Given the description of an element on the screen output the (x, y) to click on. 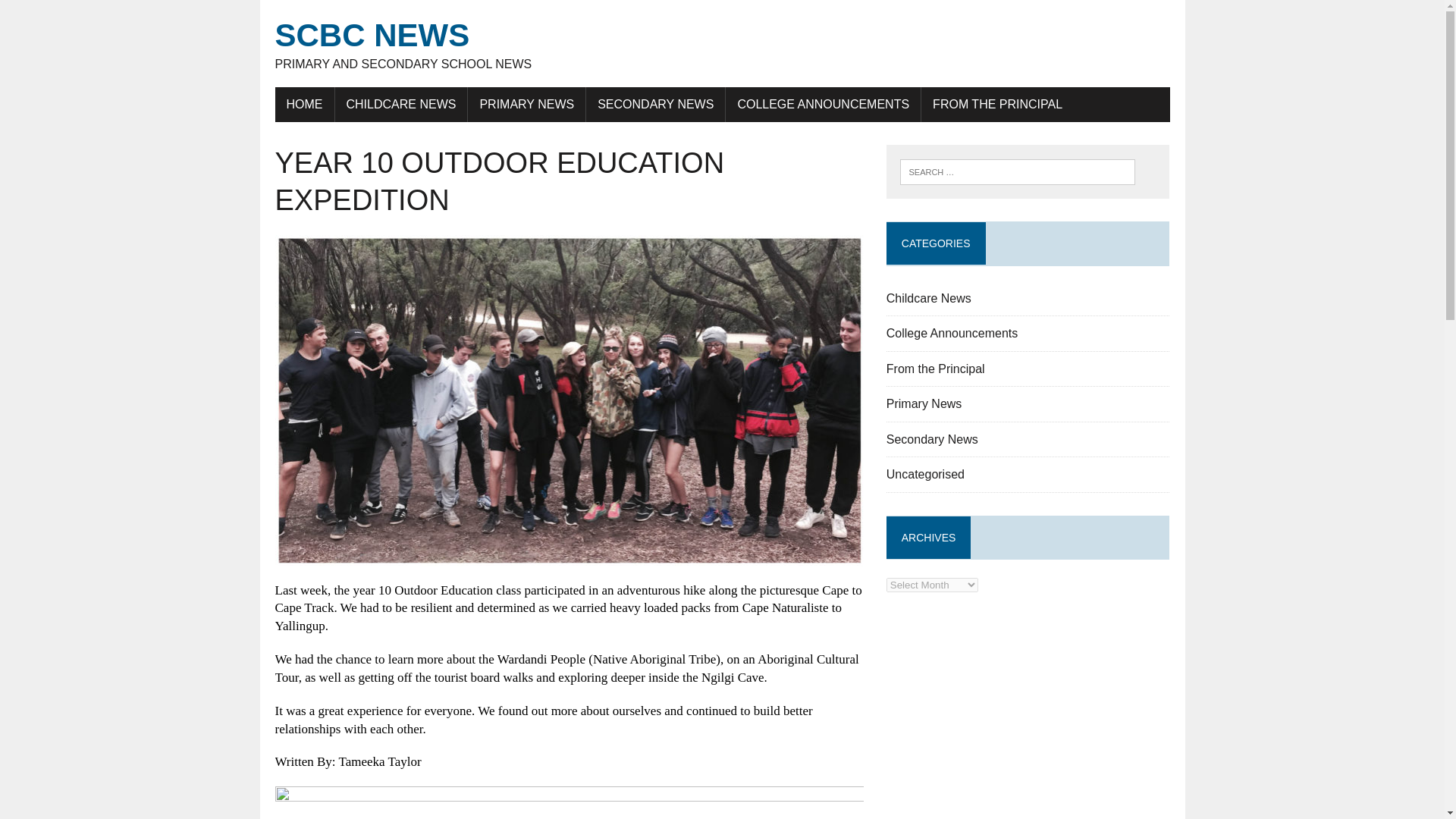
SECONDARY NEWS (655, 104)
FROM THE PRINCIPAL (997, 104)
COLLEGE ANNOUNCEMENTS (822, 104)
Uncategorised (924, 473)
Search (75, 14)
SCBC News (722, 43)
Primary News (924, 403)
HOME (304, 104)
PRIMARY NEWS (526, 104)
College Announcements (951, 332)
Secondary News (932, 439)
CHILDCARE NEWS (400, 104)
Childcare News (928, 297)
From the Principal (935, 368)
